Given the description of an element on the screen output the (x, y) to click on. 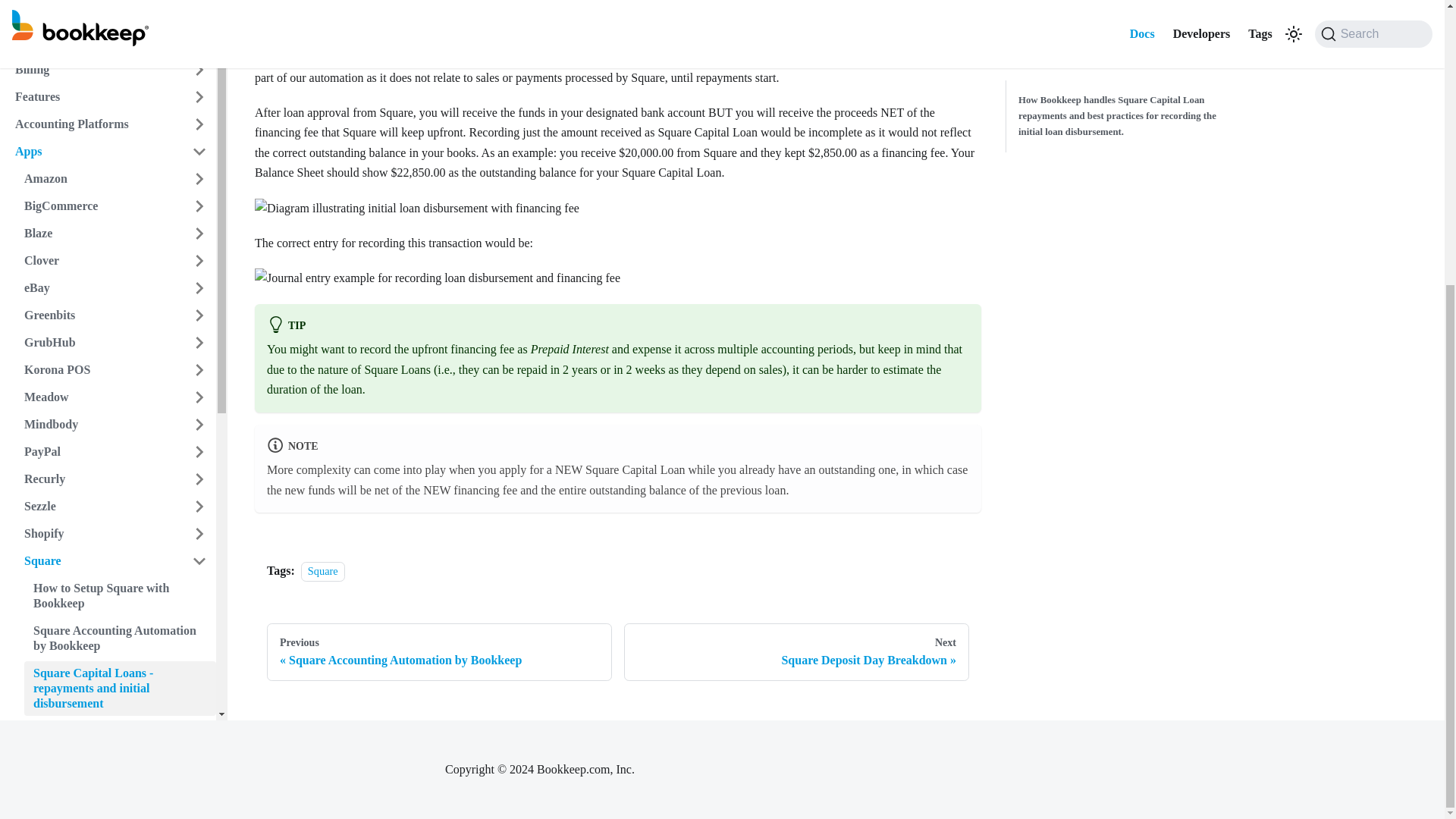
Meadow (98, 67)
GrubHub (98, 12)
Korona POS (98, 39)
